Given the description of an element on the screen output the (x, y) to click on. 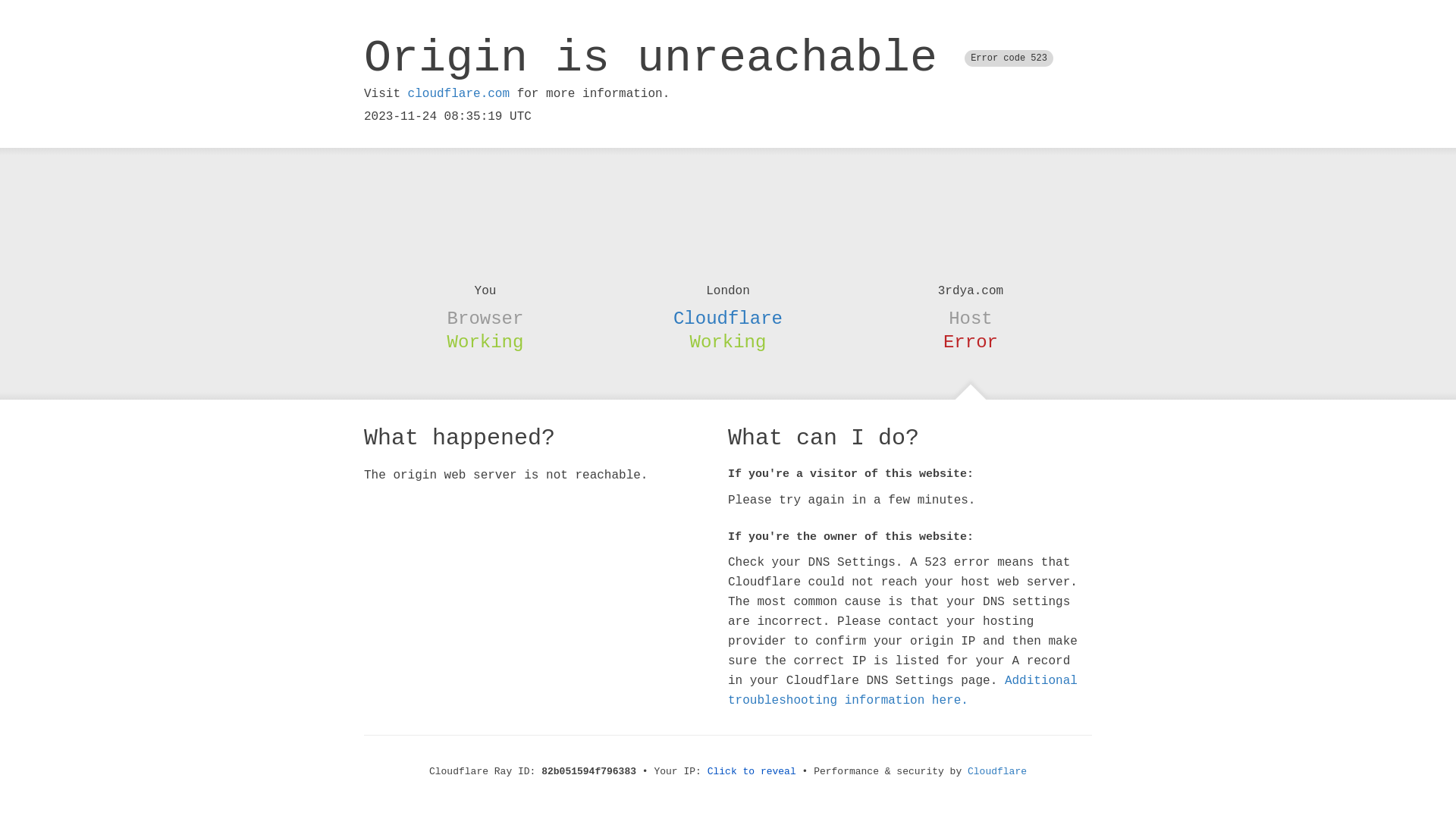
cloudflare.com Element type: text (458, 93)
Additional troubleshooting information here. Element type: text (902, 690)
Click to reveal Element type: text (751, 771)
Cloudflare Element type: text (996, 771)
Cloudflare Element type: text (727, 318)
